Given the description of an element on the screen output the (x, y) to click on. 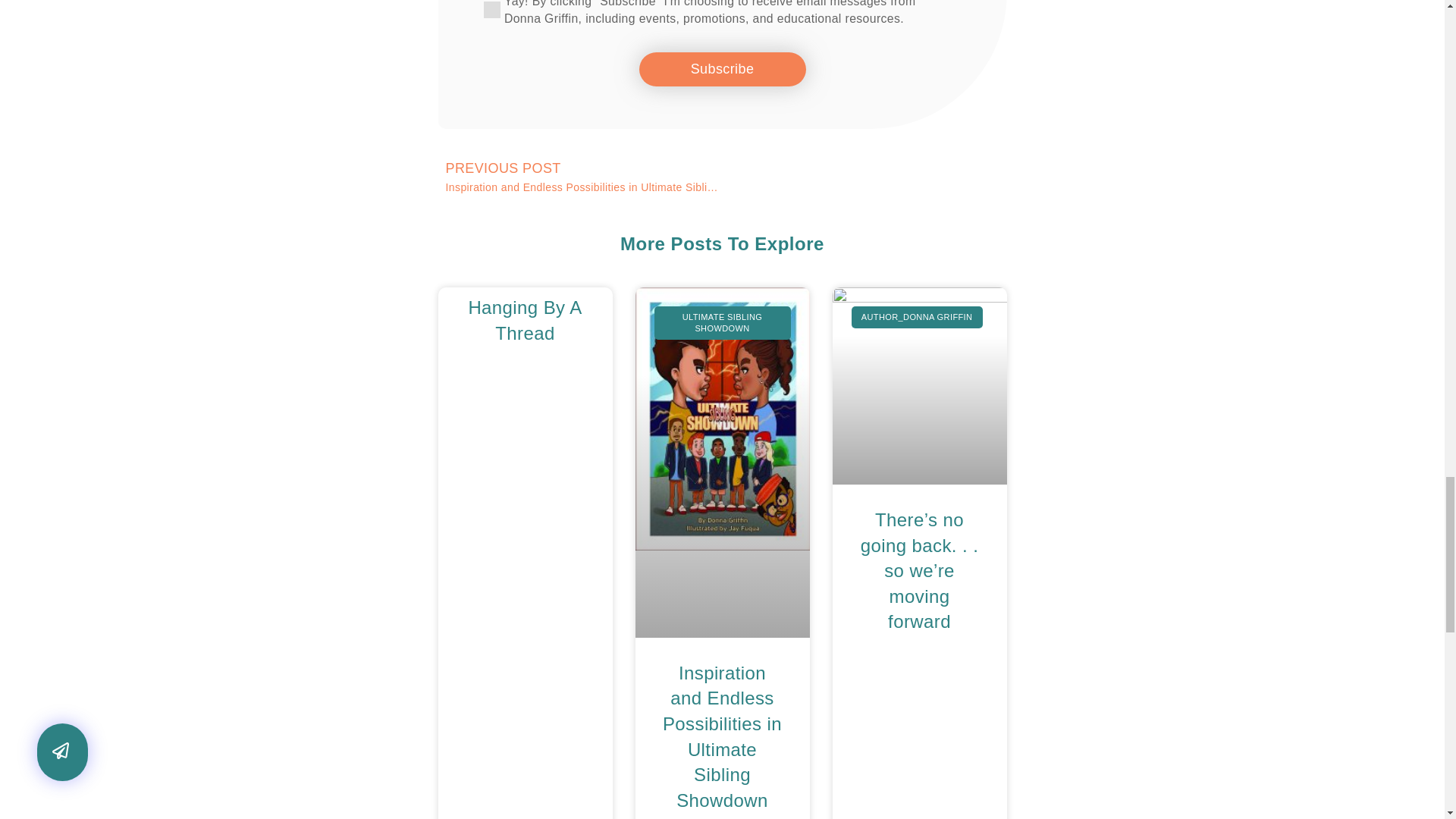
Hanging By A Thread (523, 320)
Subscribe (722, 69)
Subscribe (722, 69)
